Given the description of an element on the screen output the (x, y) to click on. 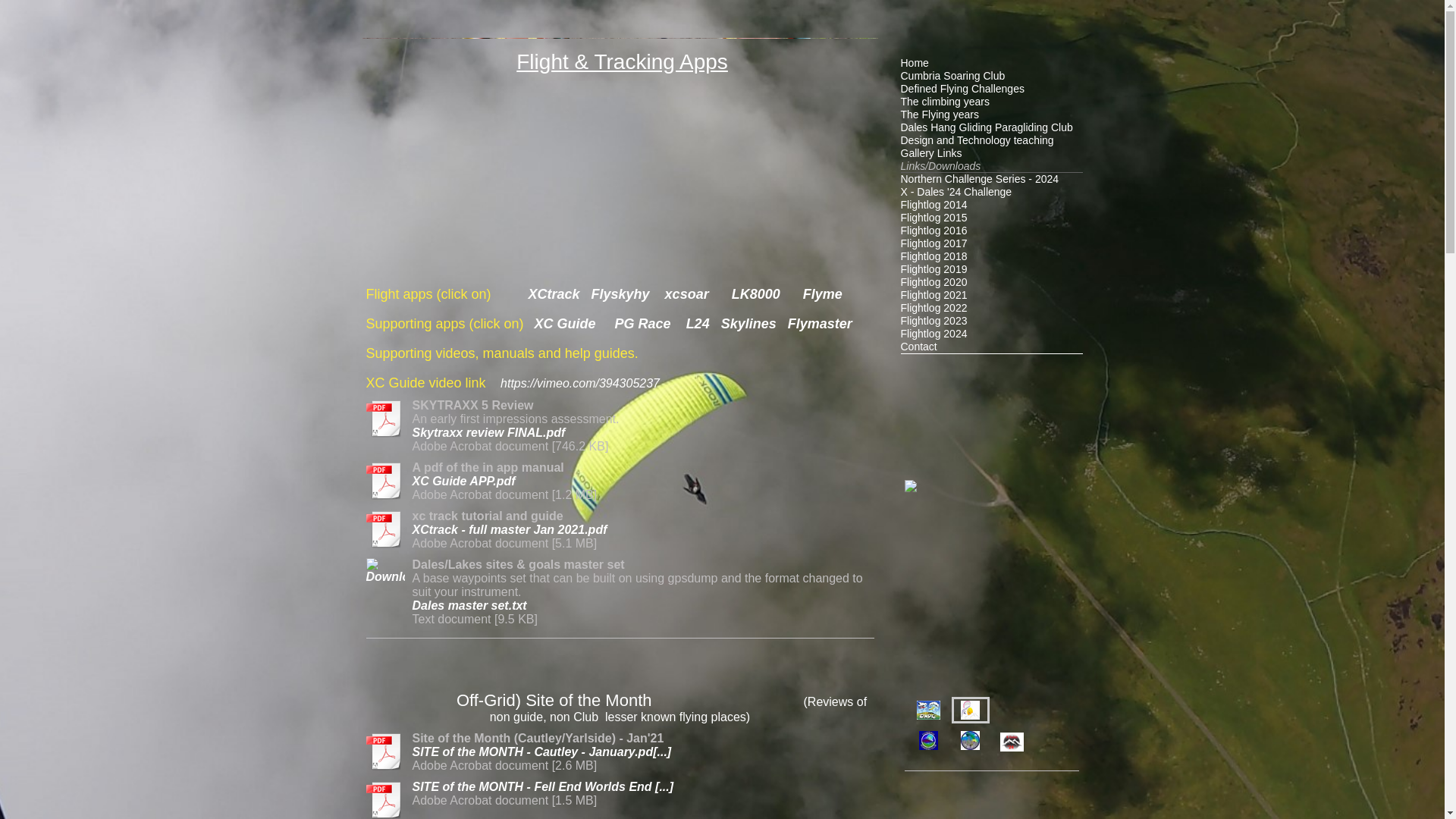
xcsoar (687, 294)
Flyme (823, 294)
PG Race  (644, 323)
XCtrack (553, 294)
XC Guide APP.pdf (463, 481)
Flymaster (819, 323)
Skytraxx review FINAL.pdf (489, 431)
XCtrack - full master Jan 2021.pdf (509, 529)
XC Guide (564, 323)
LK8000    (762, 294)
